Given the description of an element on the screen output the (x, y) to click on. 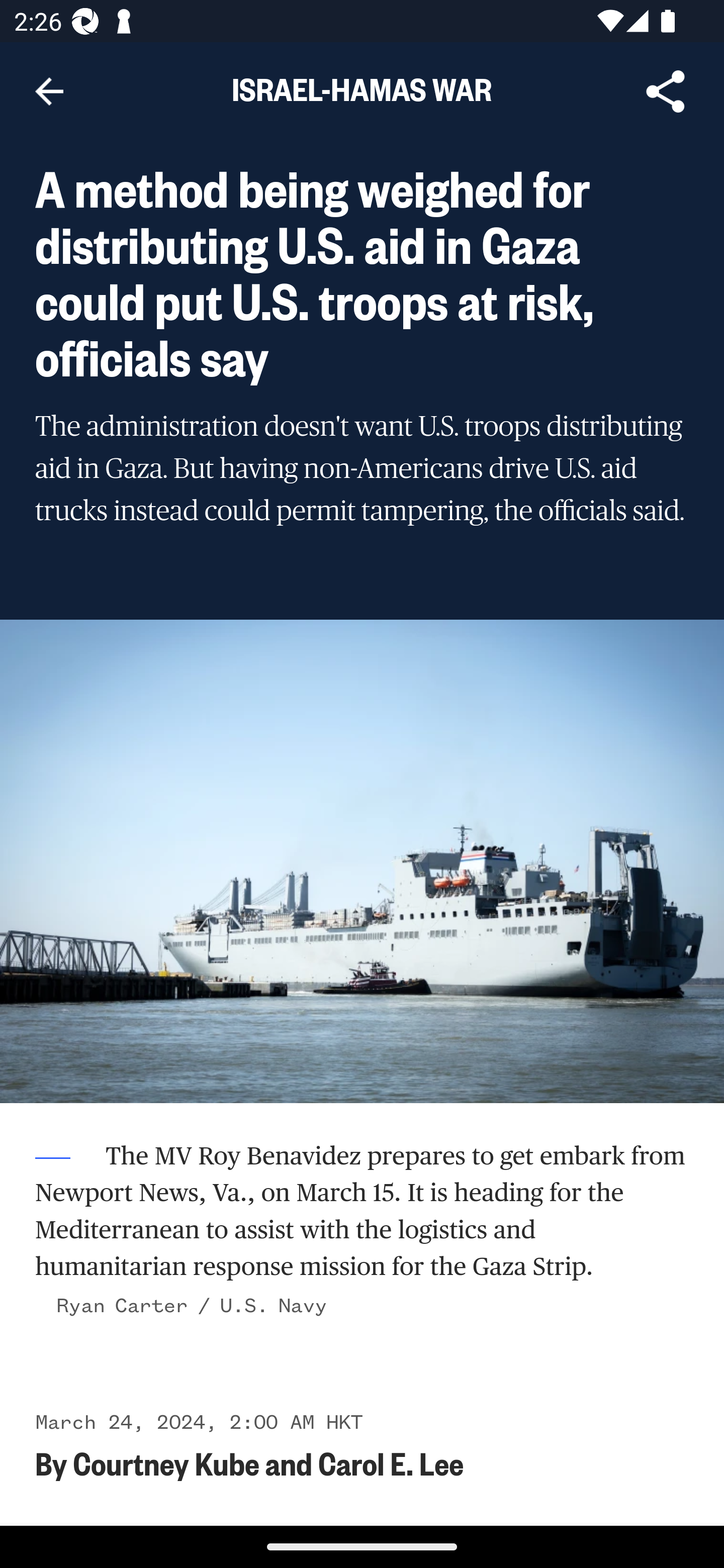
Navigate up (49, 91)
Share Article, button (665, 91)
Courtney Kube (165, 1463)
Carol E. Lee (390, 1463)
